Given the description of an element on the screen output the (x, y) to click on. 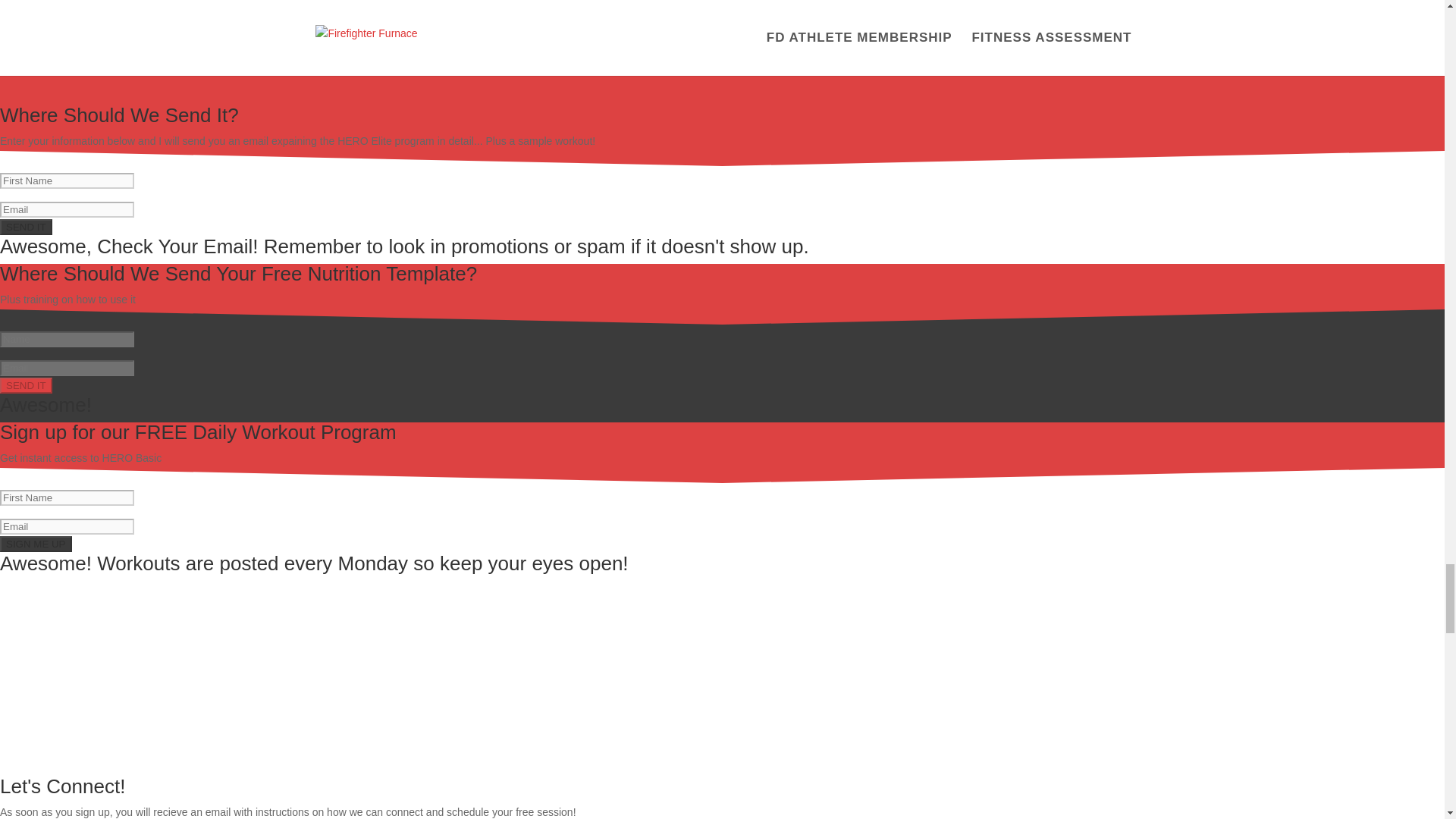
SEND IT (26, 227)
SEND IT (26, 385)
SIGN ME UP (35, 544)
